Given the description of an element on the screen output the (x, y) to click on. 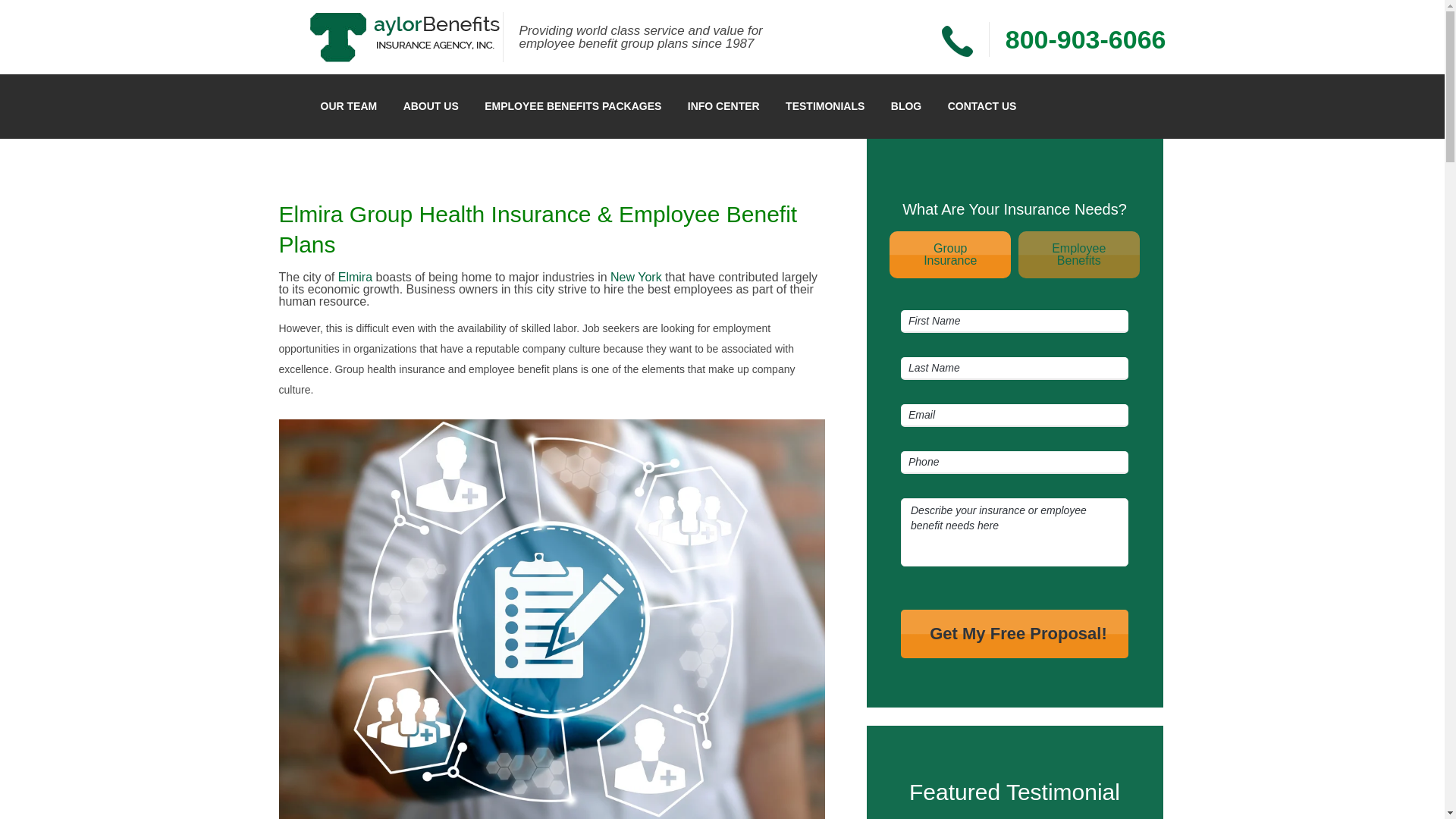
Get My Free Proposal! (1014, 633)
TESTIMONIALS (824, 105)
Elmira (1078, 254)
BLOG (949, 254)
CONTACT US (354, 277)
EMPLOYEE BENEFITS PACKAGES (905, 105)
800-903-6066 (981, 105)
OUR TEAM (572, 105)
INFO CENTER (1086, 38)
Get My Free Proposal! (349, 105)
ABOUT US (723, 105)
New York (1014, 633)
